Given the description of an element on the screen output the (x, y) to click on. 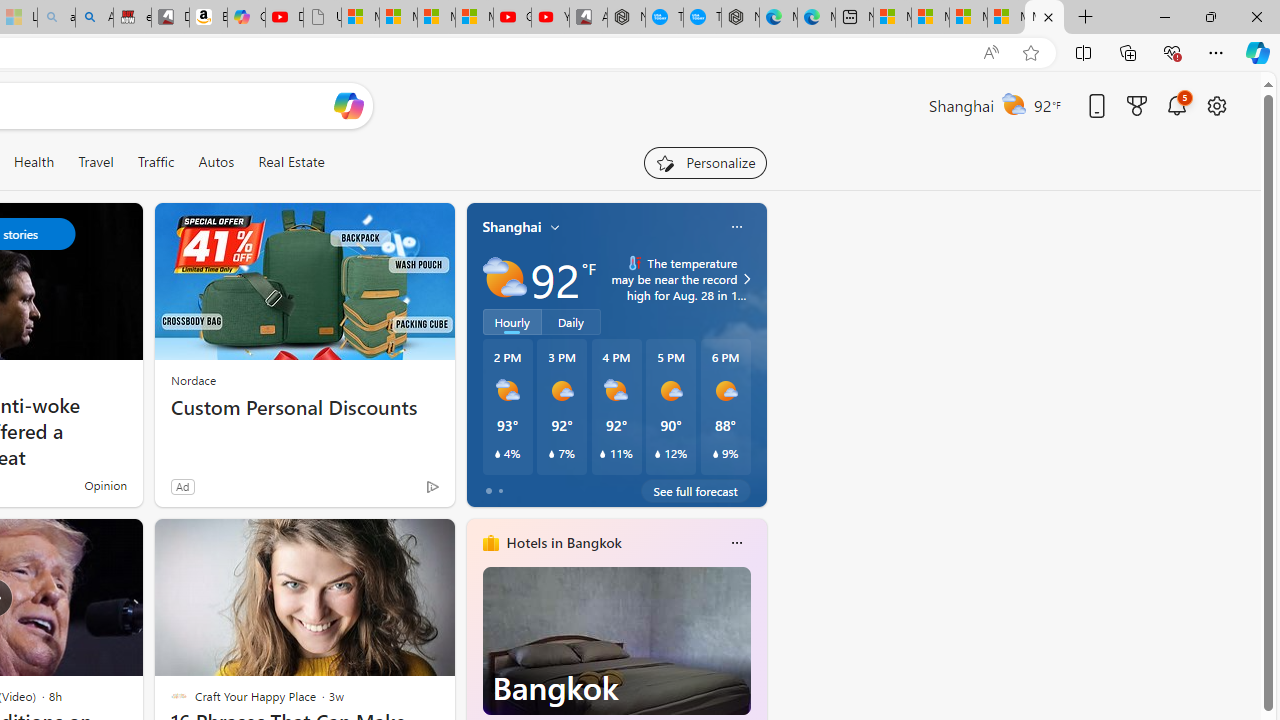
Hotels in Bangkok (563, 543)
Real Estate (291, 161)
More options (736, 543)
Open Copilot (347, 105)
tab-1 (500, 490)
tab-0 (488, 490)
Microsoft rewards (1137, 105)
Ad (182, 486)
Open settings (1216, 105)
Microsoft account | Privacy (1006, 17)
Copilot (245, 17)
